Given the description of an element on the screen output the (x, y) to click on. 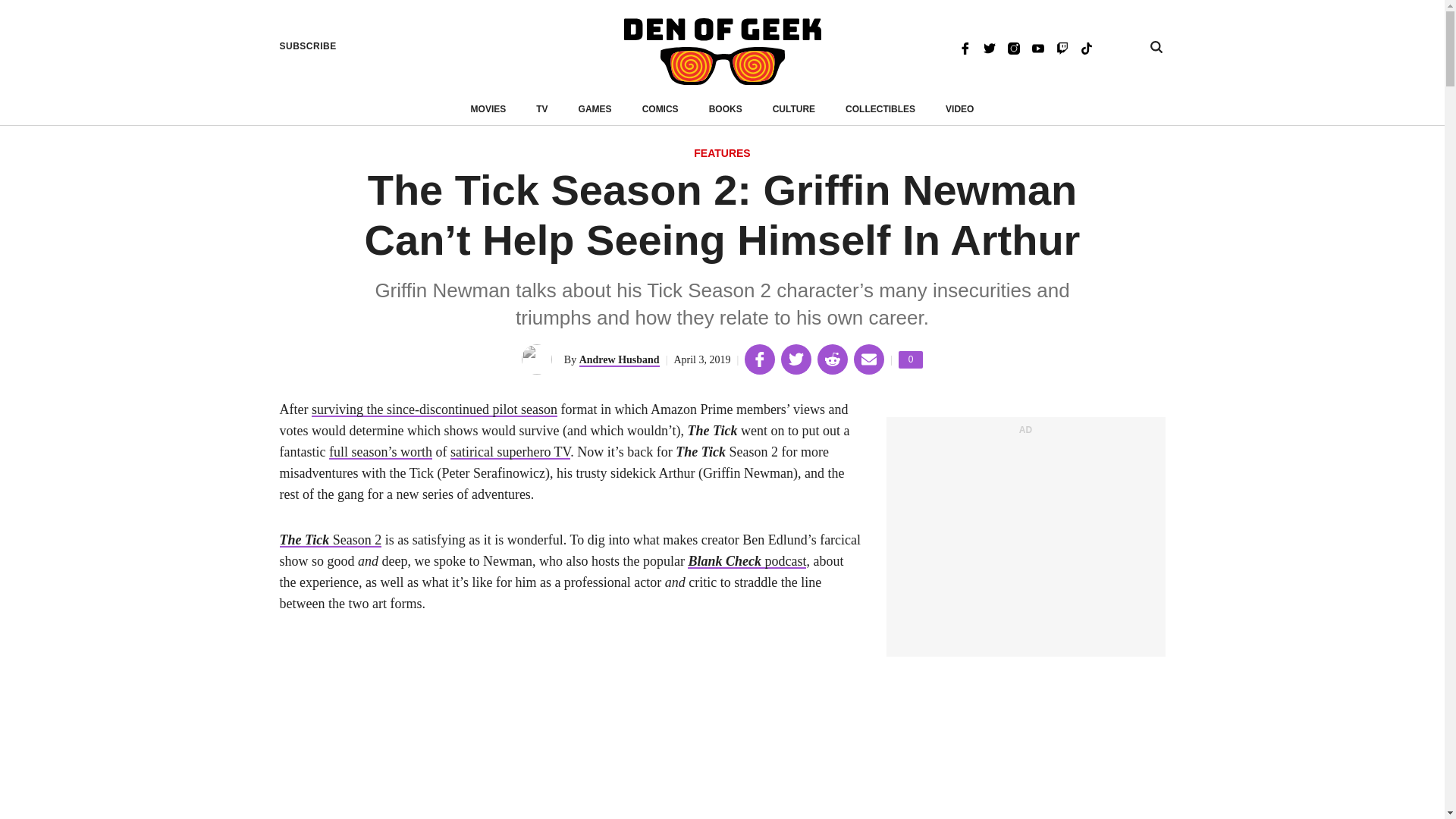
GAMES (594, 109)
The Tick Review (434, 409)
VIDEO (959, 109)
FEATURES (721, 153)
Blank Check Podcast (746, 560)
Andrew Husband (619, 359)
COMICS (660, 109)
MOVIES (488, 109)
The Tick Season 2 (330, 539)
Twitch (1061, 46)
